Given the description of an element on the screen output the (x, y) to click on. 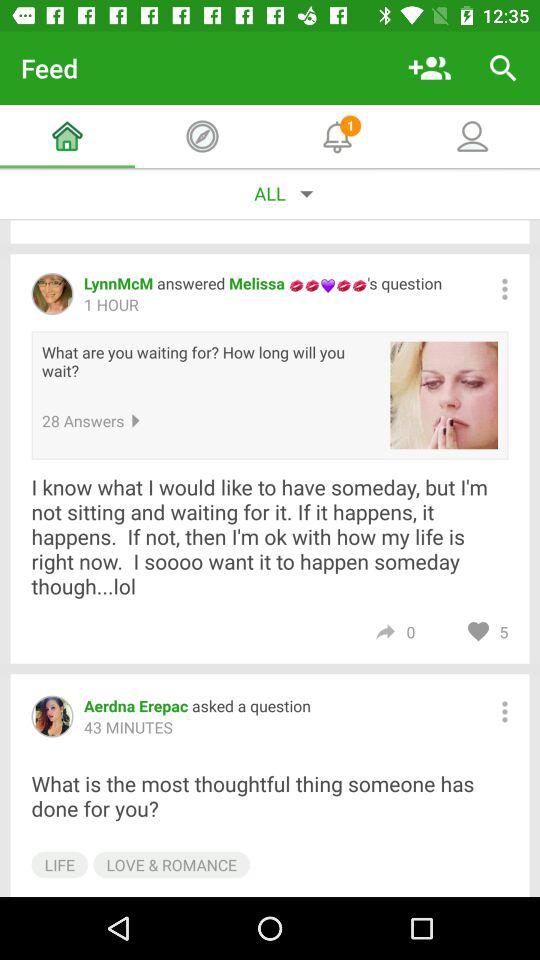
view more options (504, 711)
